Given the description of an element on the screen output the (x, y) to click on. 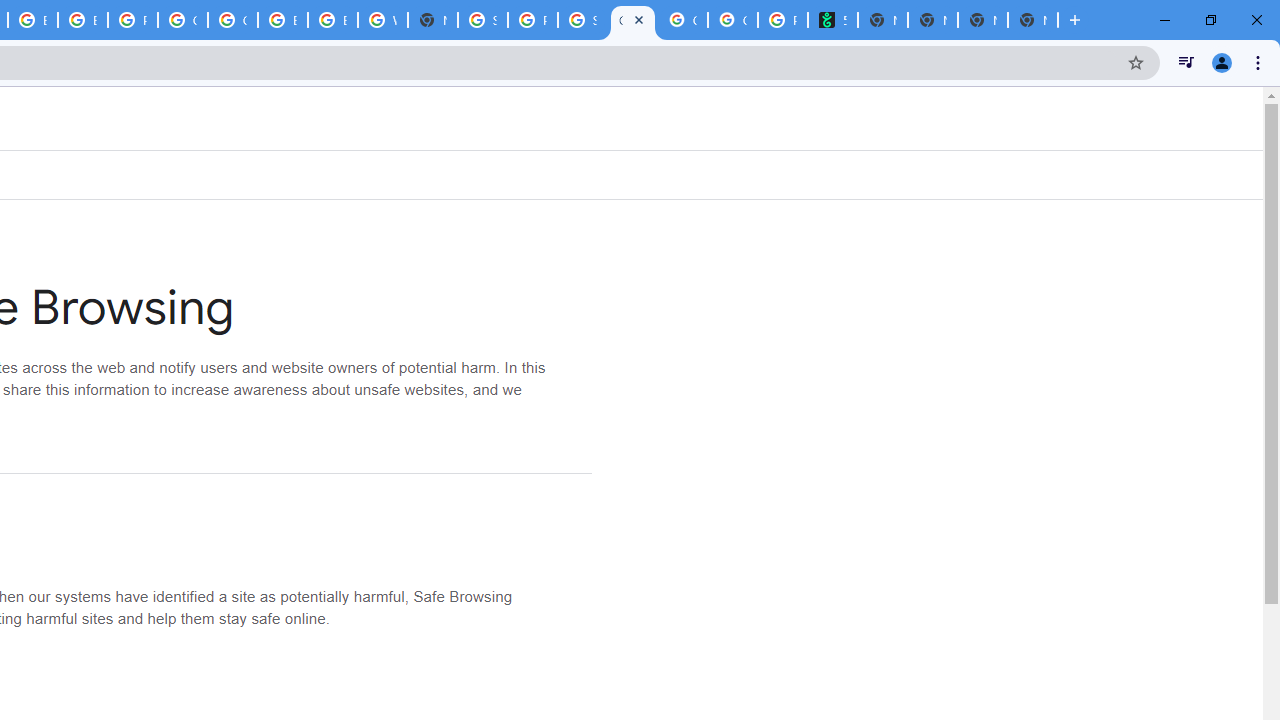
Browse Chrome as a guest - Computer - Google Chrome Help (82, 20)
New Tab (1032, 20)
Browse Chrome as a guest - Computer - Google Chrome Help (333, 20)
New Tab (433, 20)
Google Cloud Platform (182, 20)
Browse Chrome as a guest - Computer - Google Chrome Help (283, 20)
